Given the description of an element on the screen output the (x, y) to click on. 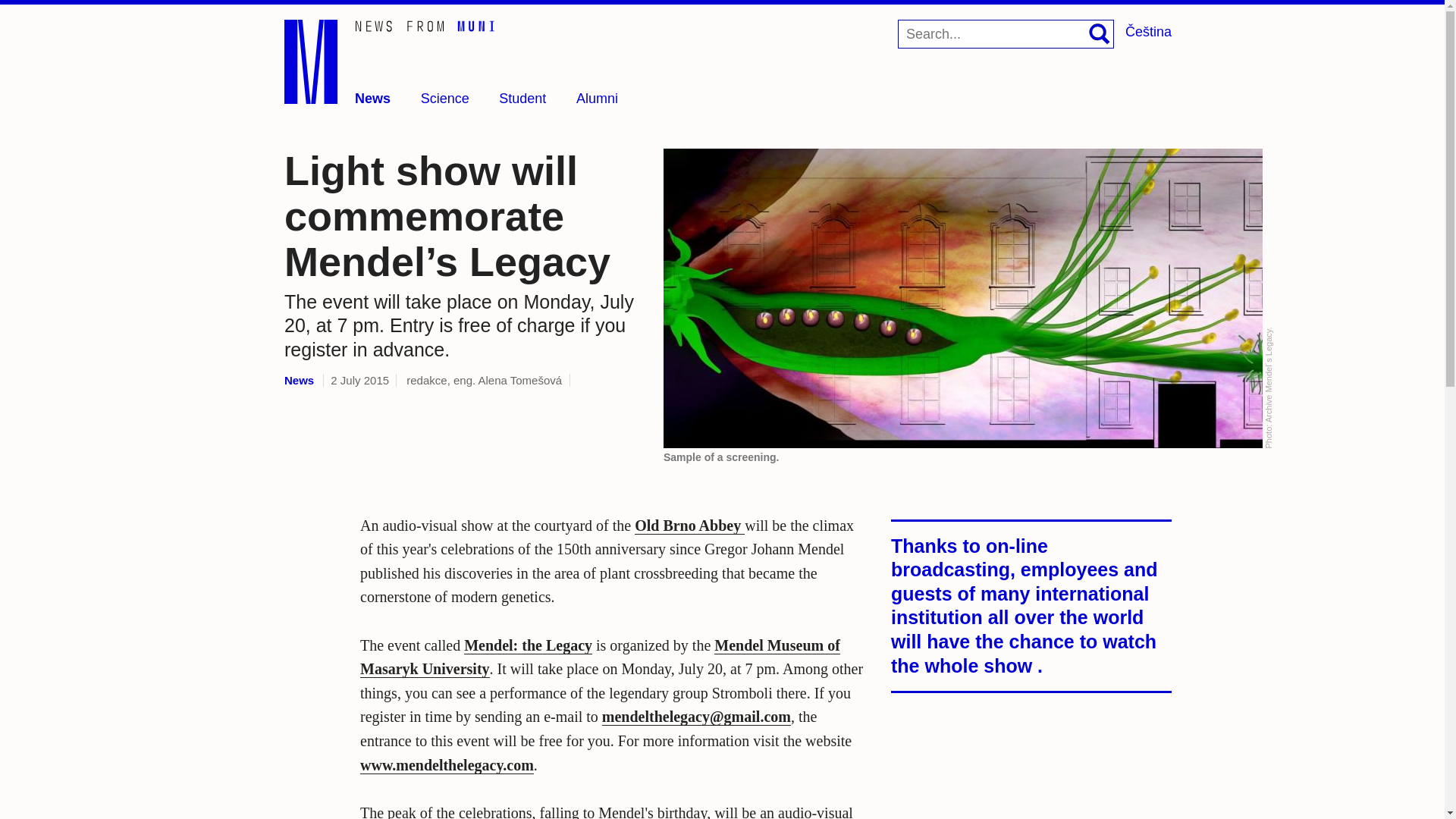
Mendel: the Legacy (528, 645)
Science (444, 98)
Alumni (596, 98)
News (298, 379)
News (372, 98)
Old Brno Abbey (689, 525)
Student (522, 98)
Mendel Museum of Masaryk University (599, 657)
www.mendelthelegacy.com (446, 764)
